Given the description of an element on the screen output the (x, y) to click on. 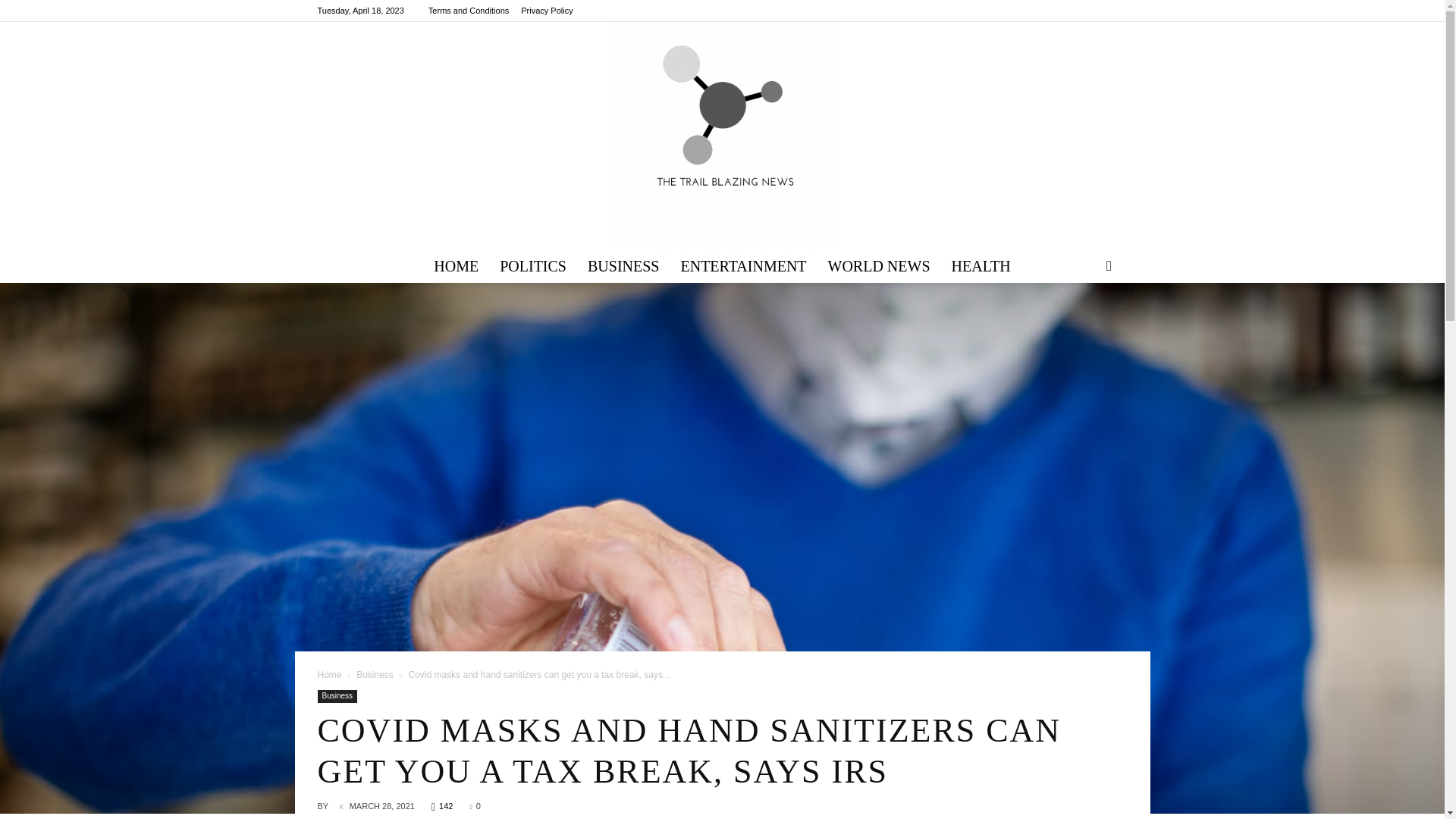
HOME (456, 265)
Business (336, 696)
View all posts in Business (374, 674)
HEALTH (981, 265)
POLITICS (532, 265)
Terms and Conditions (468, 10)
Search (1085, 324)
WORLD NEWS (878, 265)
Privacy Policy (546, 10)
ENTERTAINMENT (742, 265)
